Given the description of an element on the screen output the (x, y) to click on. 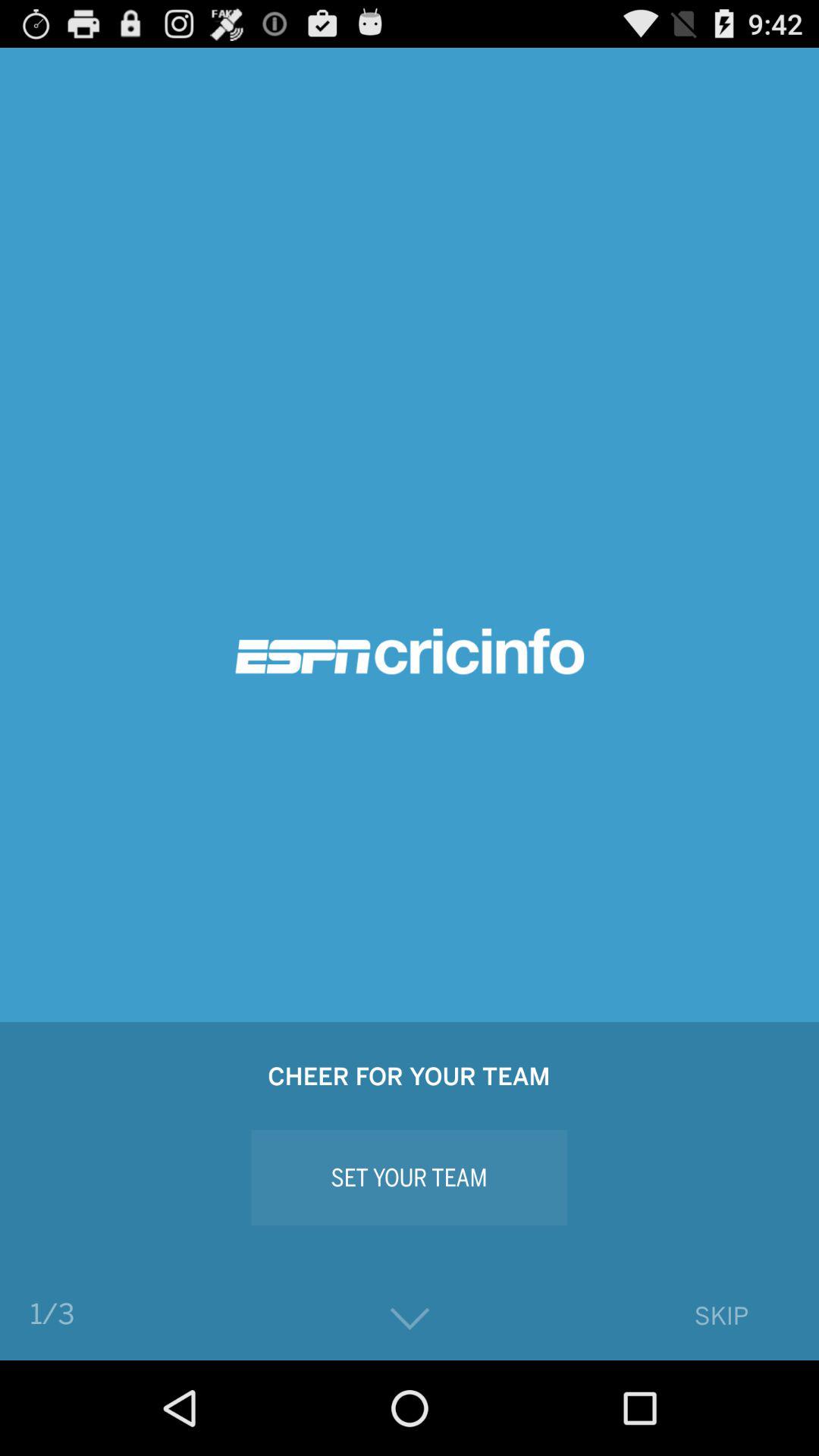
show list of teams (409, 1319)
